Given the description of an element on the screen output the (x, y) to click on. 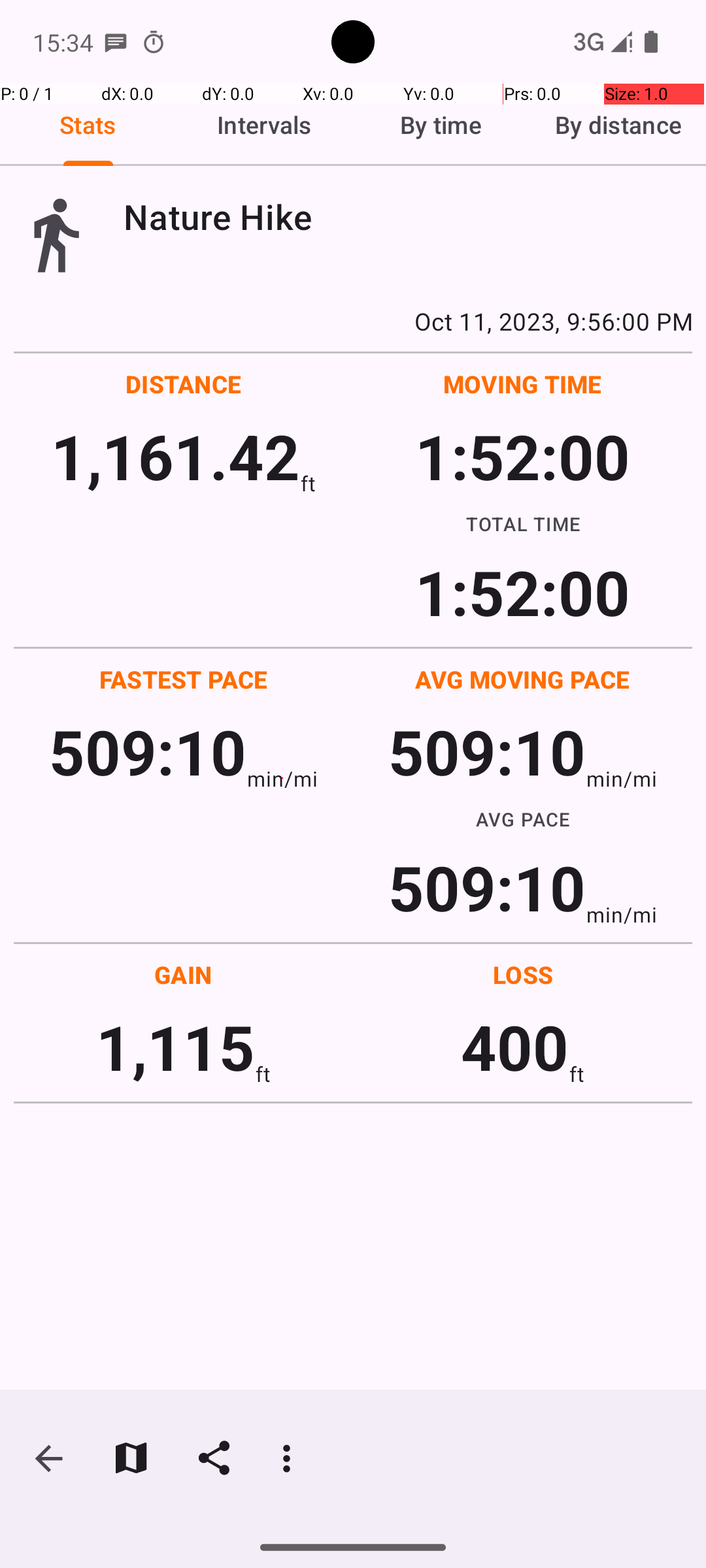
Nature Hike Element type: android.widget.TextView (407, 216)
Oct 11, 2023, 9:56:00 PM Element type: android.widget.TextView (352, 320)
1,161.42 Element type: android.widget.TextView (175, 455)
1:52:00 Element type: android.widget.TextView (522, 455)
509:10 Element type: android.widget.TextView (147, 750)
1,115 Element type: android.widget.TextView (175, 1045)
400 Element type: android.widget.TextView (514, 1045)
